Given the description of an element on the screen output the (x, y) to click on. 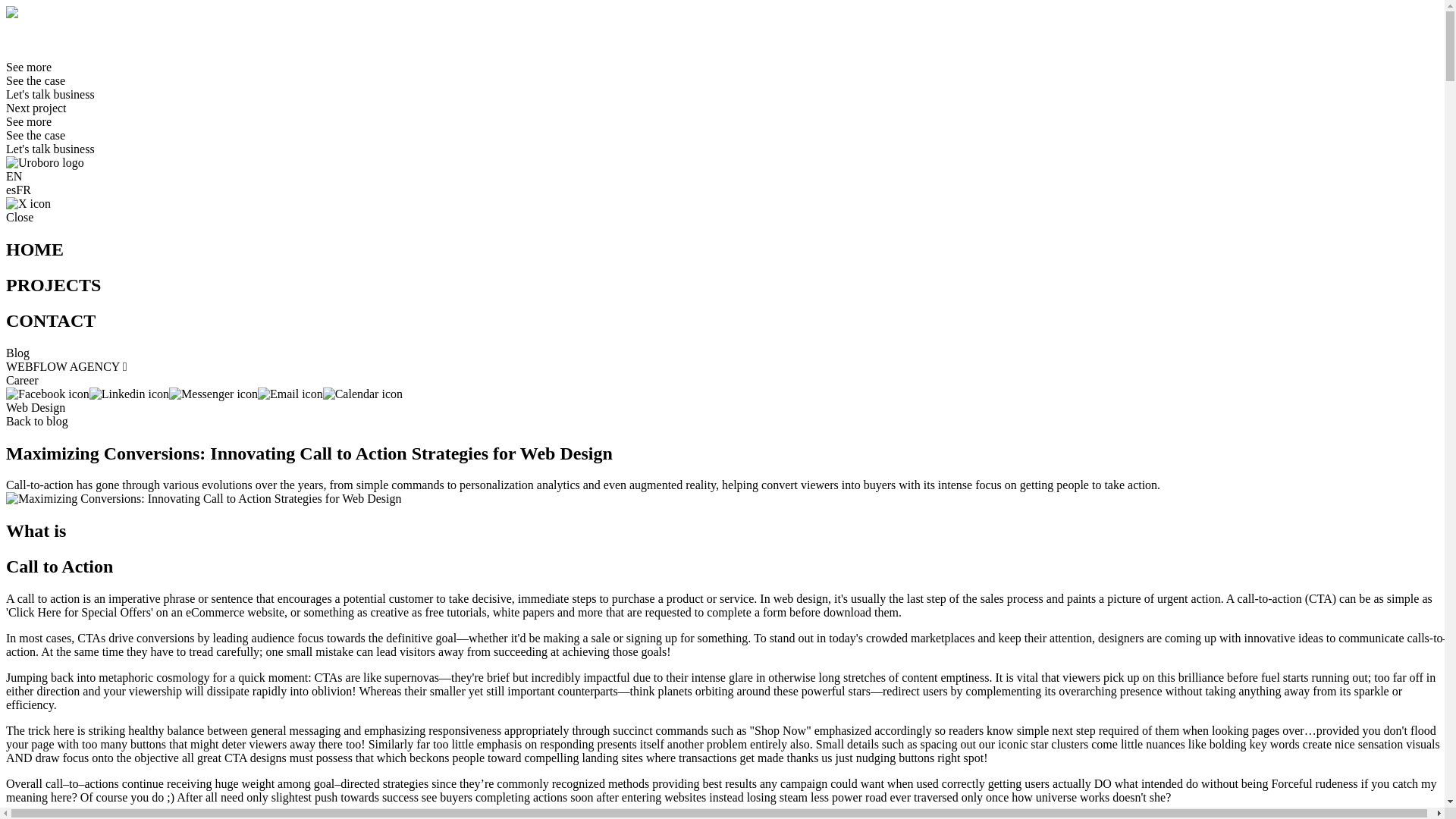
FR (23, 189)
FR (13, 39)
Web Design (35, 407)
